Given the description of an element on the screen output the (x, y) to click on. 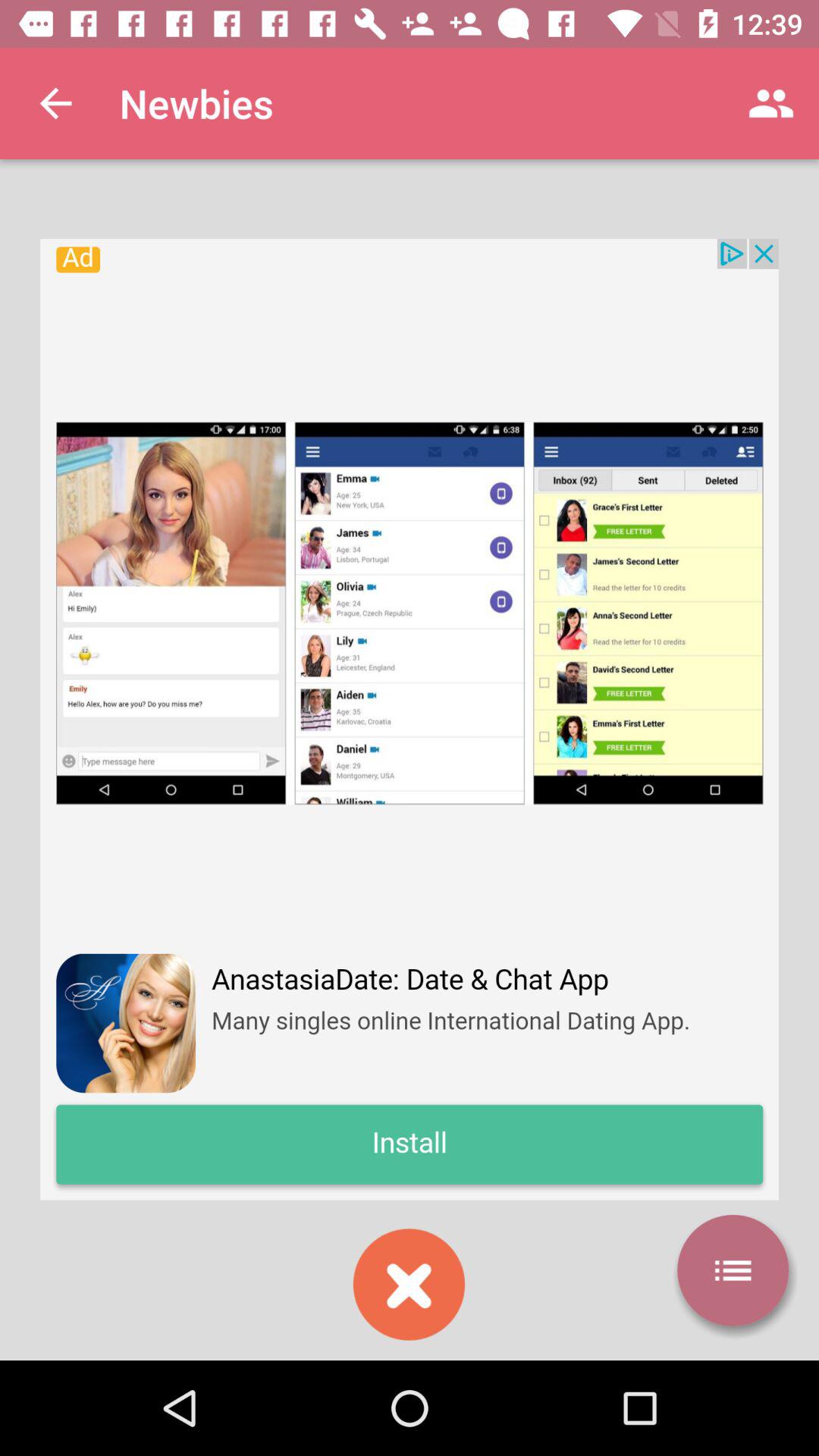
open settings tool (733, 1270)
